Given the description of an element on the screen output the (x, y) to click on. 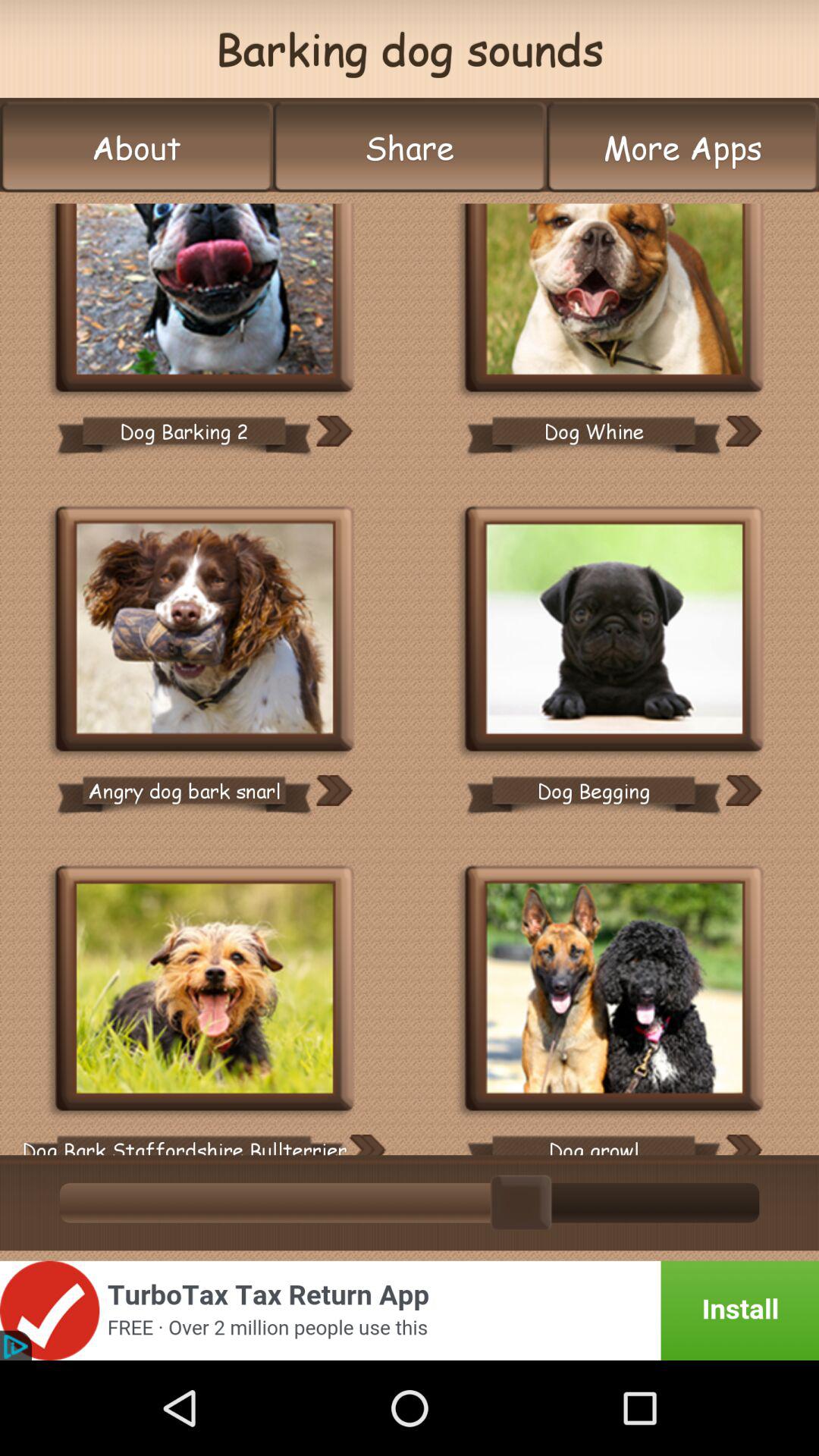
jump until the about icon (136, 147)
